Given the description of an element on the screen output the (x, y) to click on. 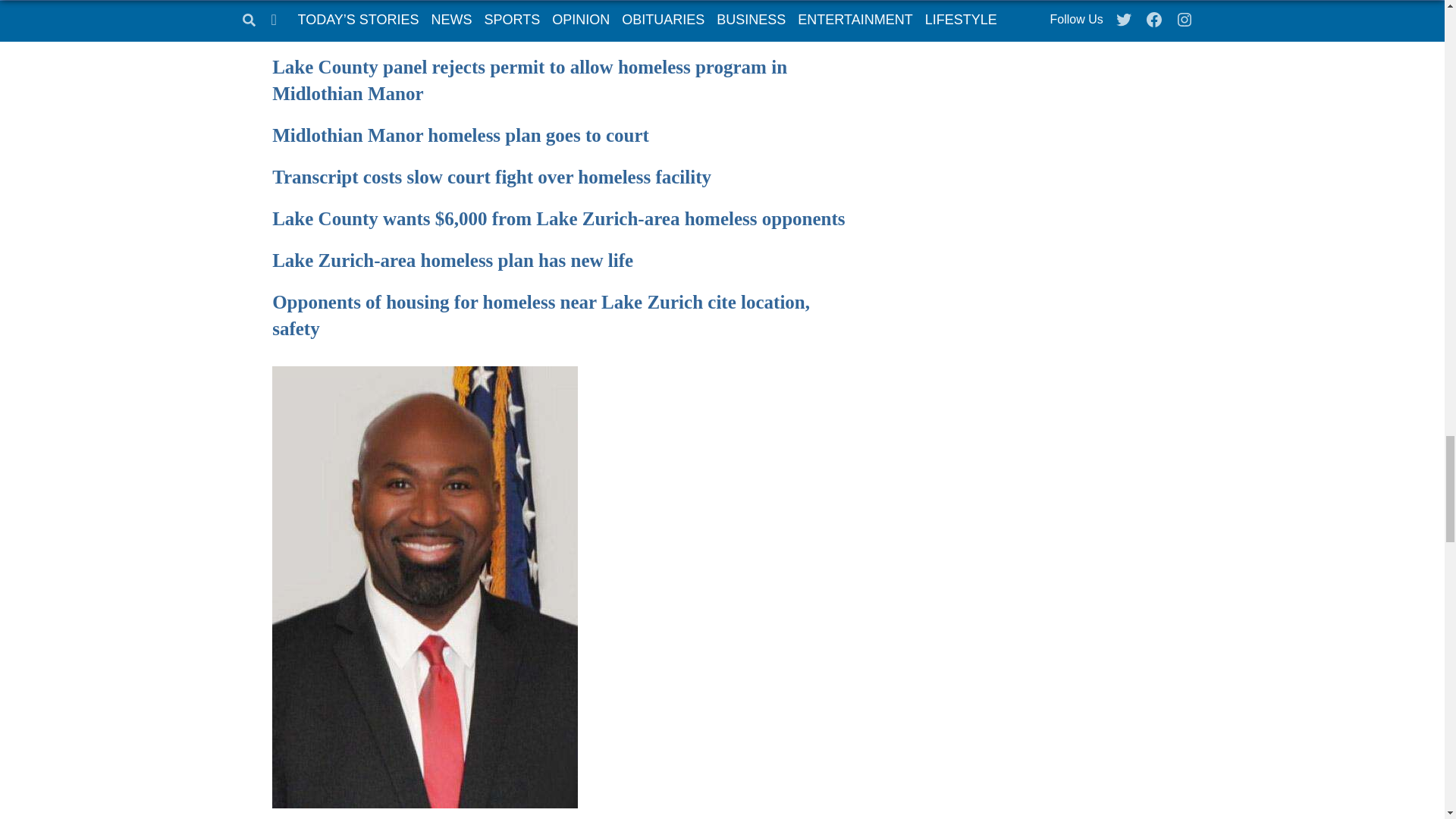
Plan would bring homeless to facility near Lake Zurich  (494, 25)
Transcript costs slow court fight over homeless facility  (491, 177)
Lake Zurich-area homeless plan has new life (452, 260)
Midlothian Manor homeless plan goes to court  (460, 135)
